Given the description of an element on the screen output the (x, y) to click on. 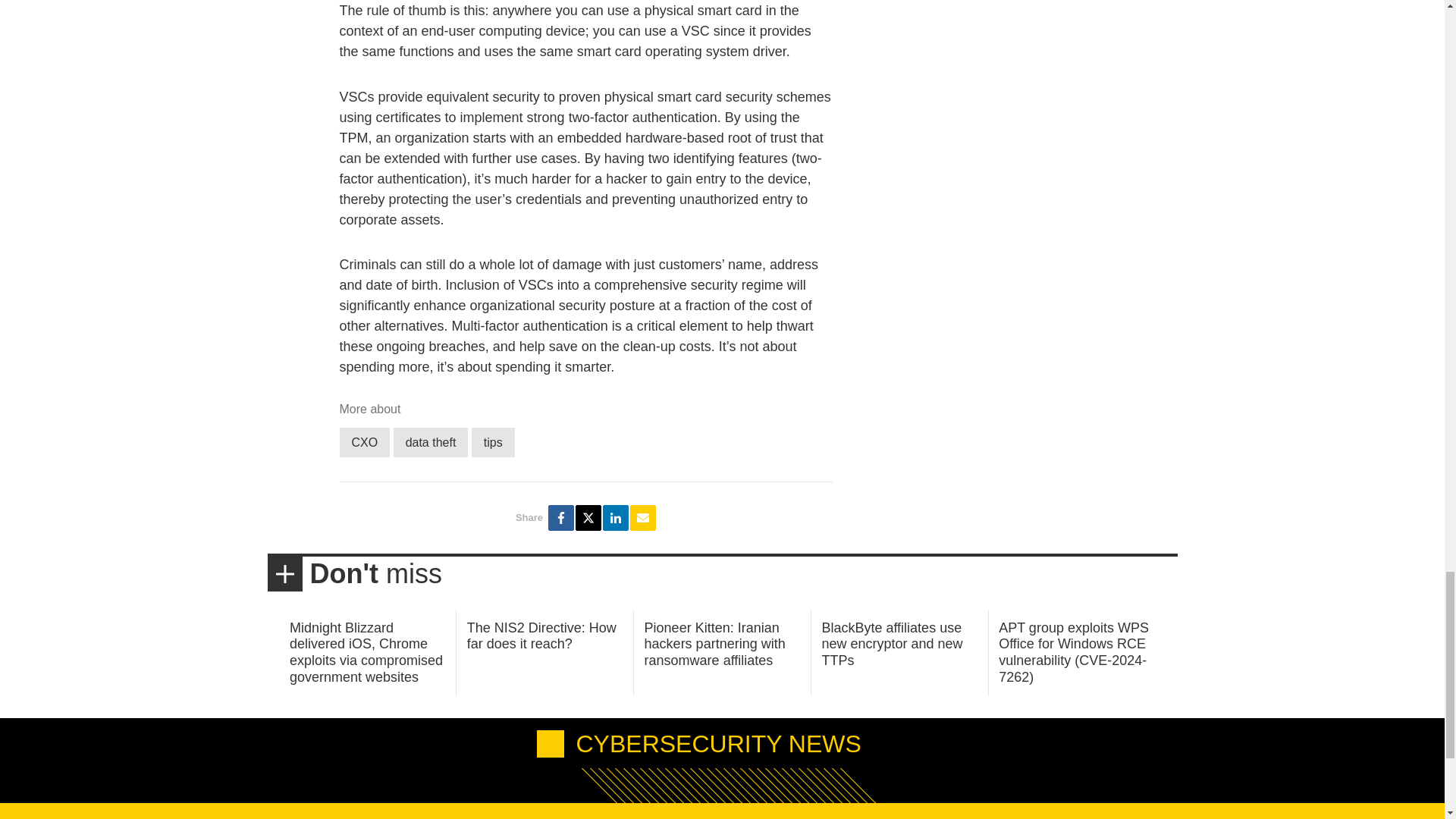
tips (493, 442)
CXO (364, 442)
BlackByte affiliates use new encryptor and new TTPs (891, 643)
data theft (430, 442)
The NIS2 Directive: How far does it reach? (541, 635)
tips (493, 442)
Share Cost of breach vs. cost of deployment on LinkedIn (615, 517)
Share Cost of breach vs. cost of deployment on Twitter (588, 517)
data theft (430, 442)
